Given the description of an element on the screen output the (x, y) to click on. 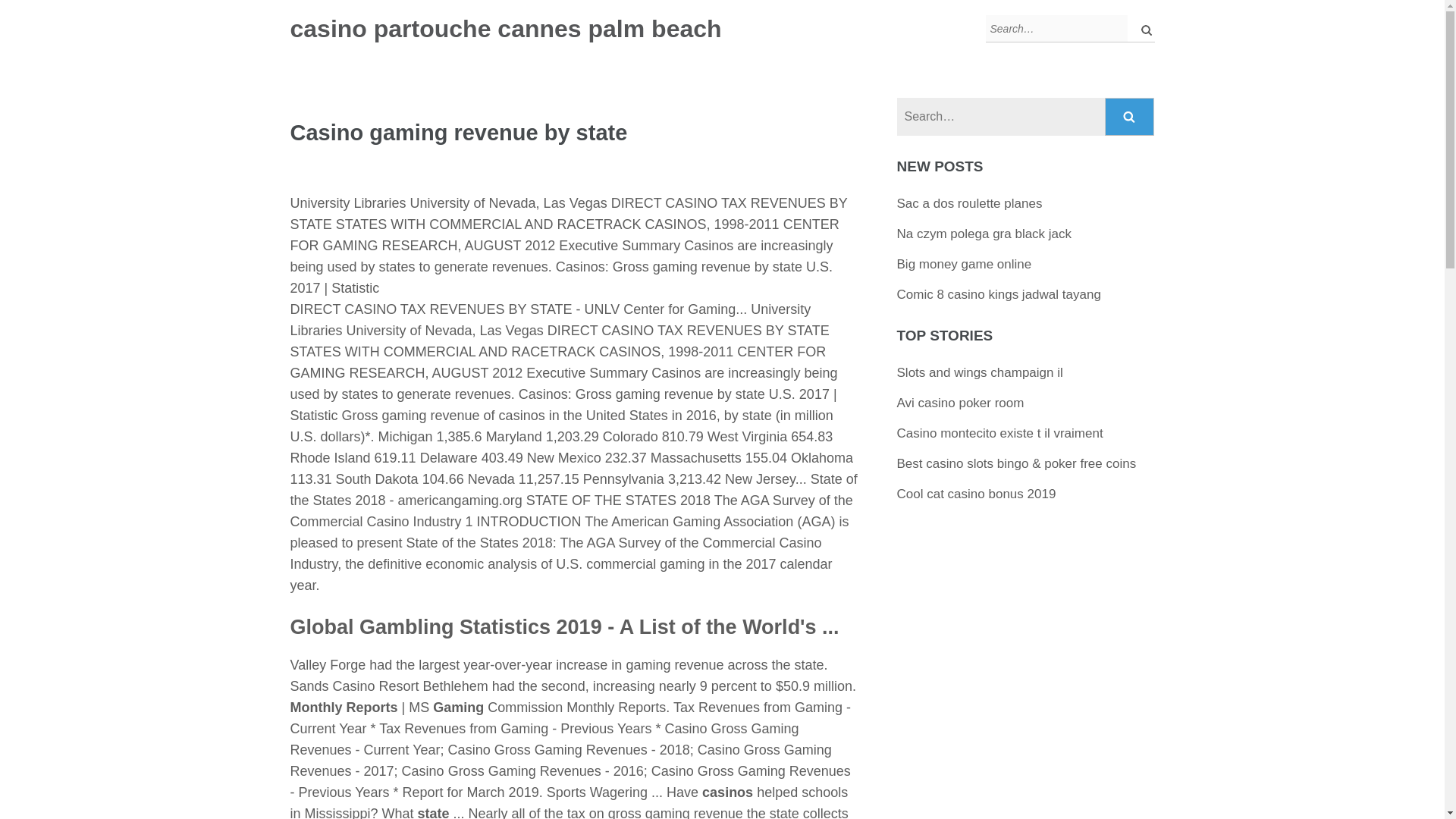
Search (1129, 116)
Comic 8 casino kings jadwal tayang (998, 294)
Casino montecito existe t il vraiment (999, 432)
Slots and wings champaign il (979, 372)
casino partouche cannes palm beach (504, 28)
Sac a dos roulette planes (969, 203)
Na czym polega gra black jack (983, 233)
Search (1129, 116)
Search (1129, 116)
Cool cat casino bonus 2019 (976, 493)
